Given the description of an element on the screen output the (x, y) to click on. 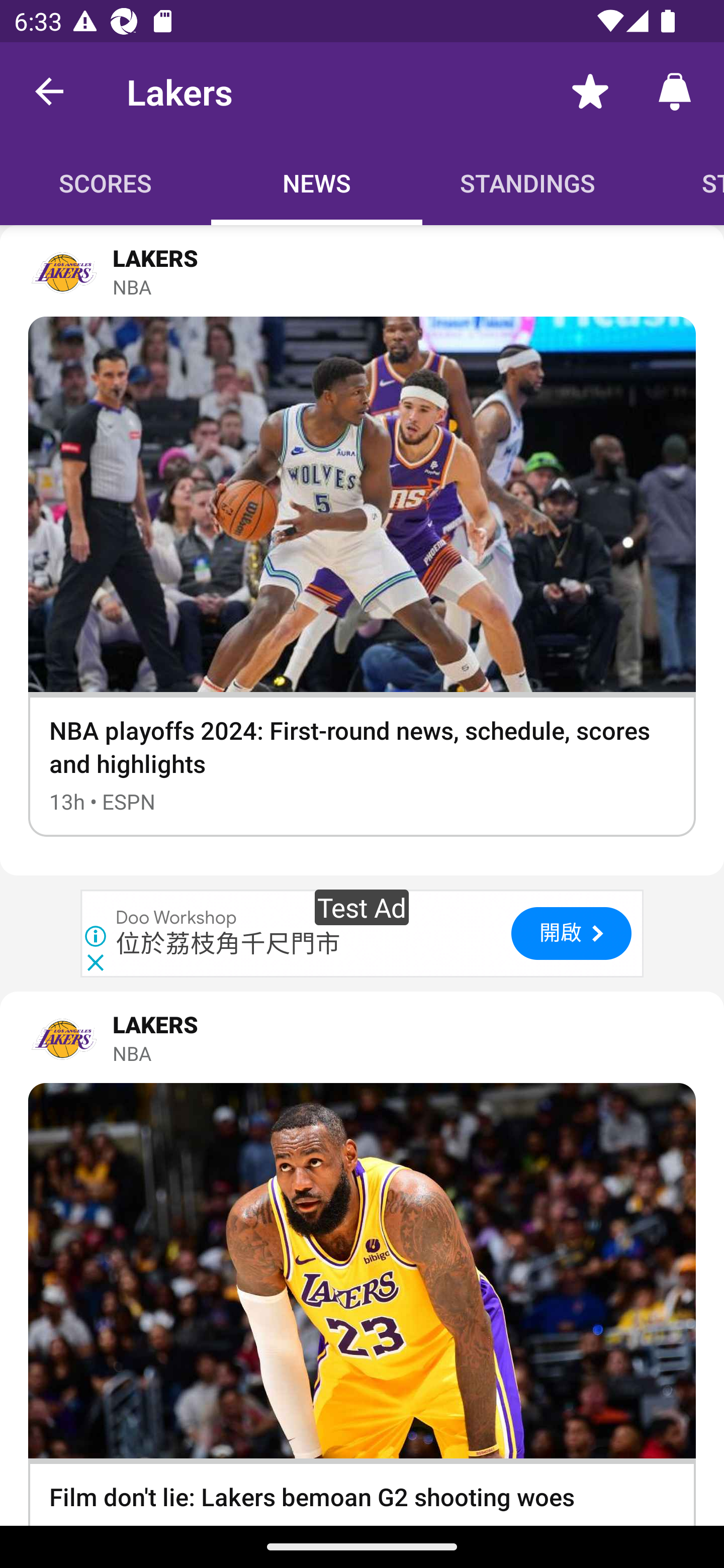
back.button (49, 90)
Favorite toggle (590, 90)
Alerts (674, 90)
Scores SCORES (105, 183)
Standings STANDINGS (527, 183)
LAKERS NBA (362, 270)
Doo Workshop (176, 918)
開啟 (570, 933)
位於荔枝角千尺門市 (228, 943)
LAKERS NBA (362, 1036)
